Given the description of an element on the screen output the (x, y) to click on. 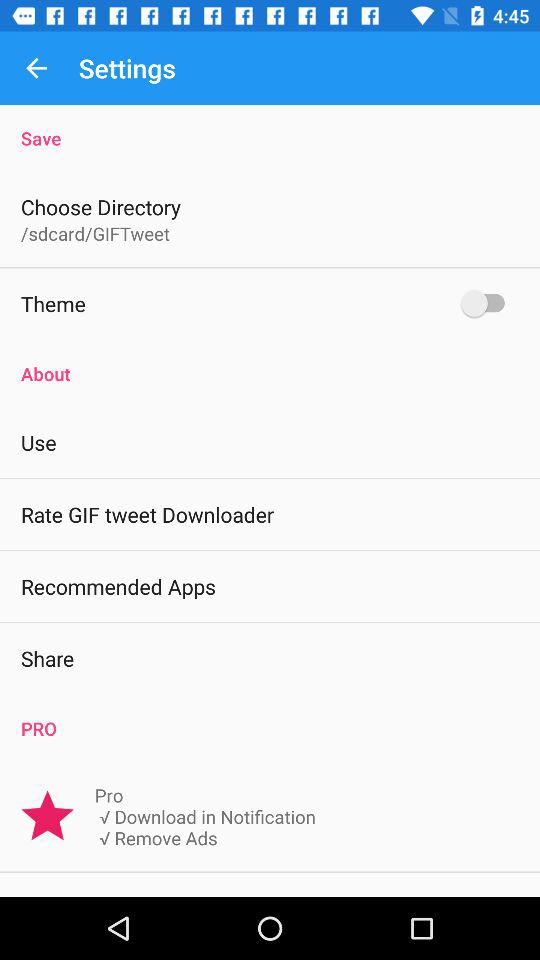
swipe to the about item (270, 363)
